Given the description of an element on the screen output the (x, y) to click on. 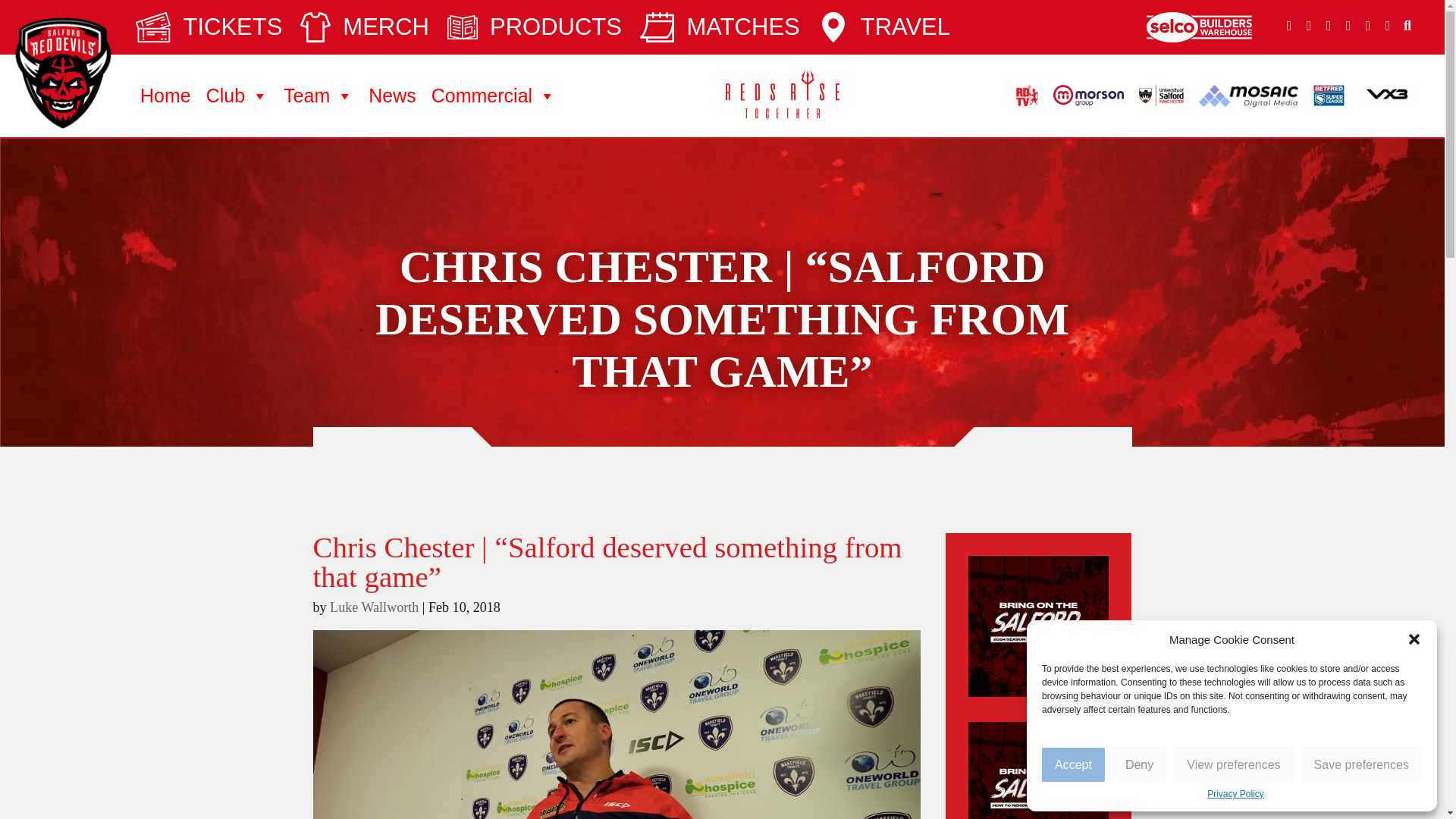
Deny (1139, 764)
Save preferences (1361, 764)
Screen-Shot-2018-02-10-at-12.20.03-1 (616, 724)
Hero Tile-1 (1038, 770)
Accept (1073, 764)
View preferences (1232, 764)
WhatsApp Image 2023-10-04 at 12.38.49 (1038, 626)
Privacy Policy (1235, 794)
Posts by Luke Wallworth (374, 610)
